Given the description of an element on the screen output the (x, y) to click on. 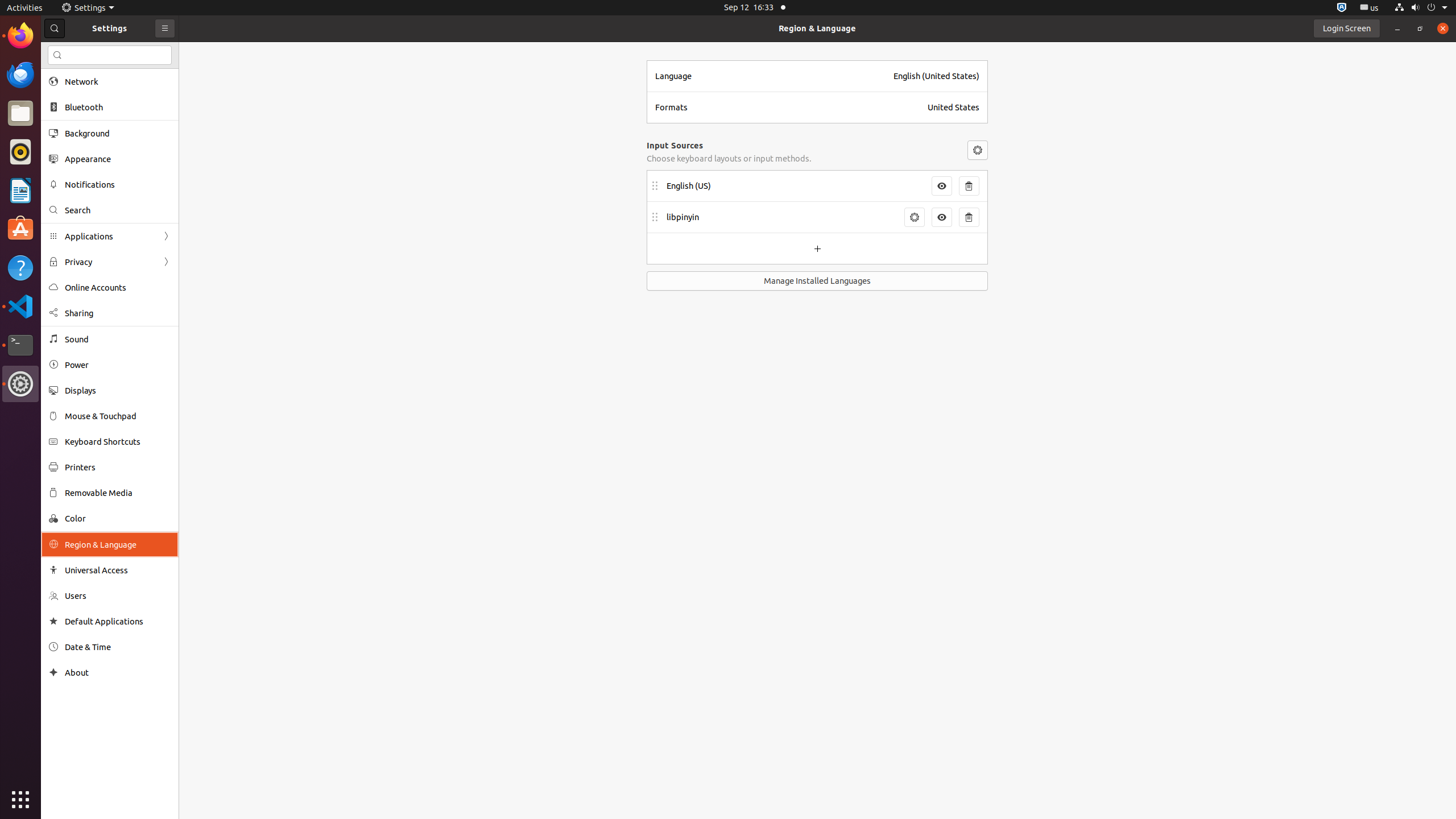
Displays Element type: label (117, 390)
Keyboard Shortcuts Element type: label (117, 441)
Menu Element type: toggle-button (977, 149)
Formats Element type: label (787, 107)
Add Element type: icon (817, 248)
